Given the description of an element on the screen output the (x, y) to click on. 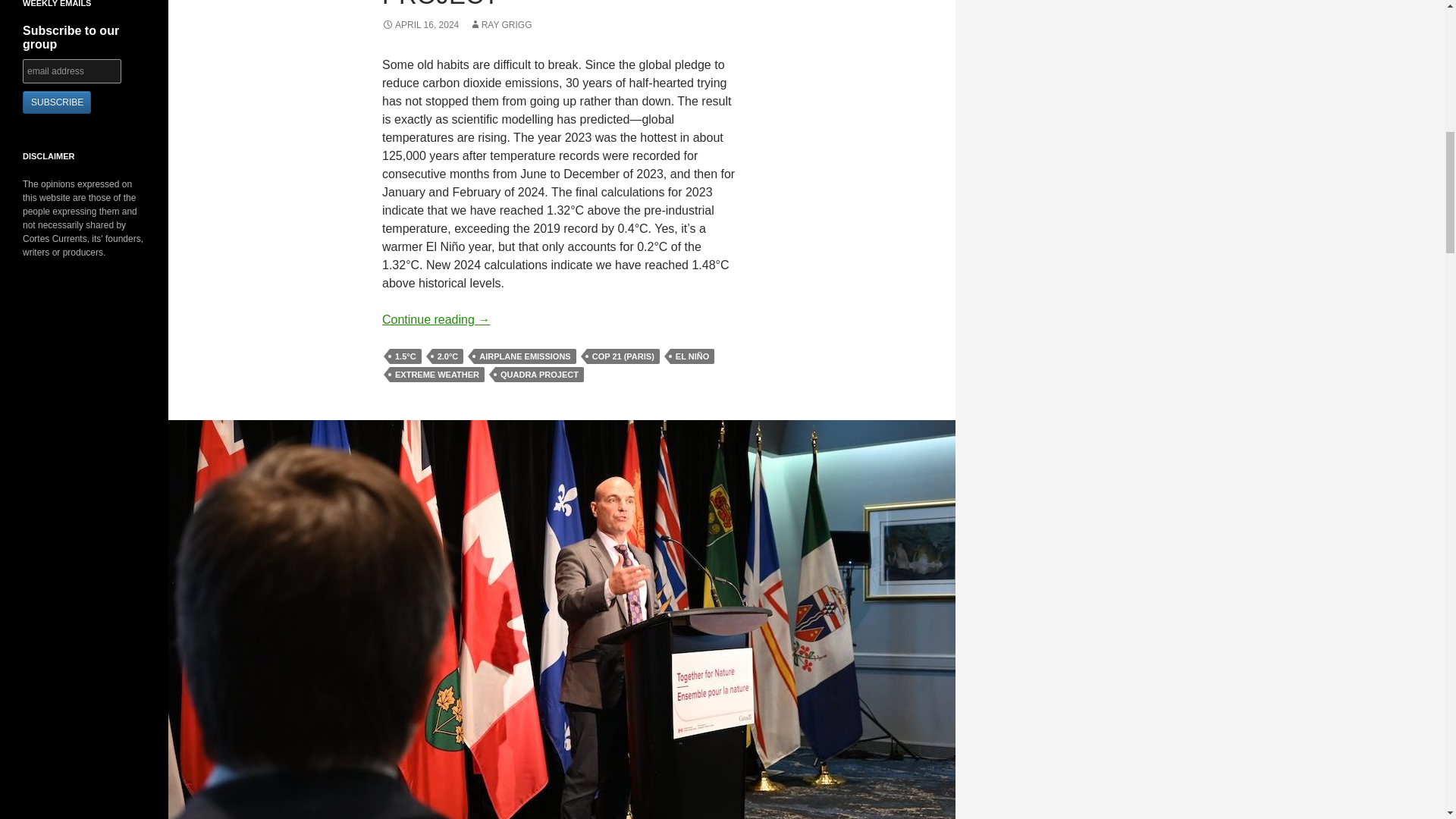
Subscribe (56, 101)
